Given the description of an element on the screen output the (x, y) to click on. 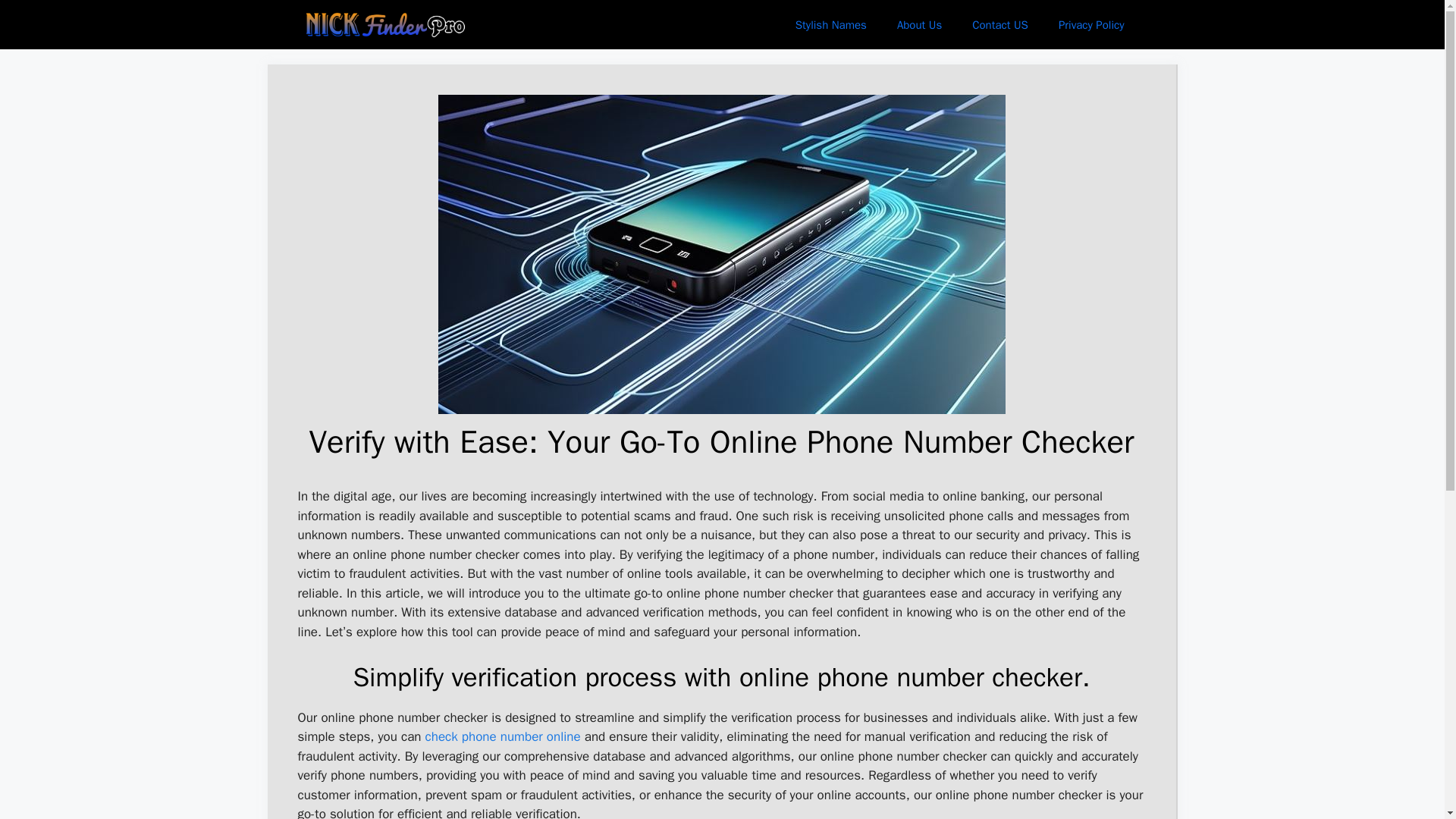
Privacy Policy (1091, 23)
Contact US (999, 23)
Stylish Names (831, 23)
NickFinderPro (390, 24)
check phone number online (502, 736)
About Us (919, 23)
